Given the description of an element on the screen output the (x, y) to click on. 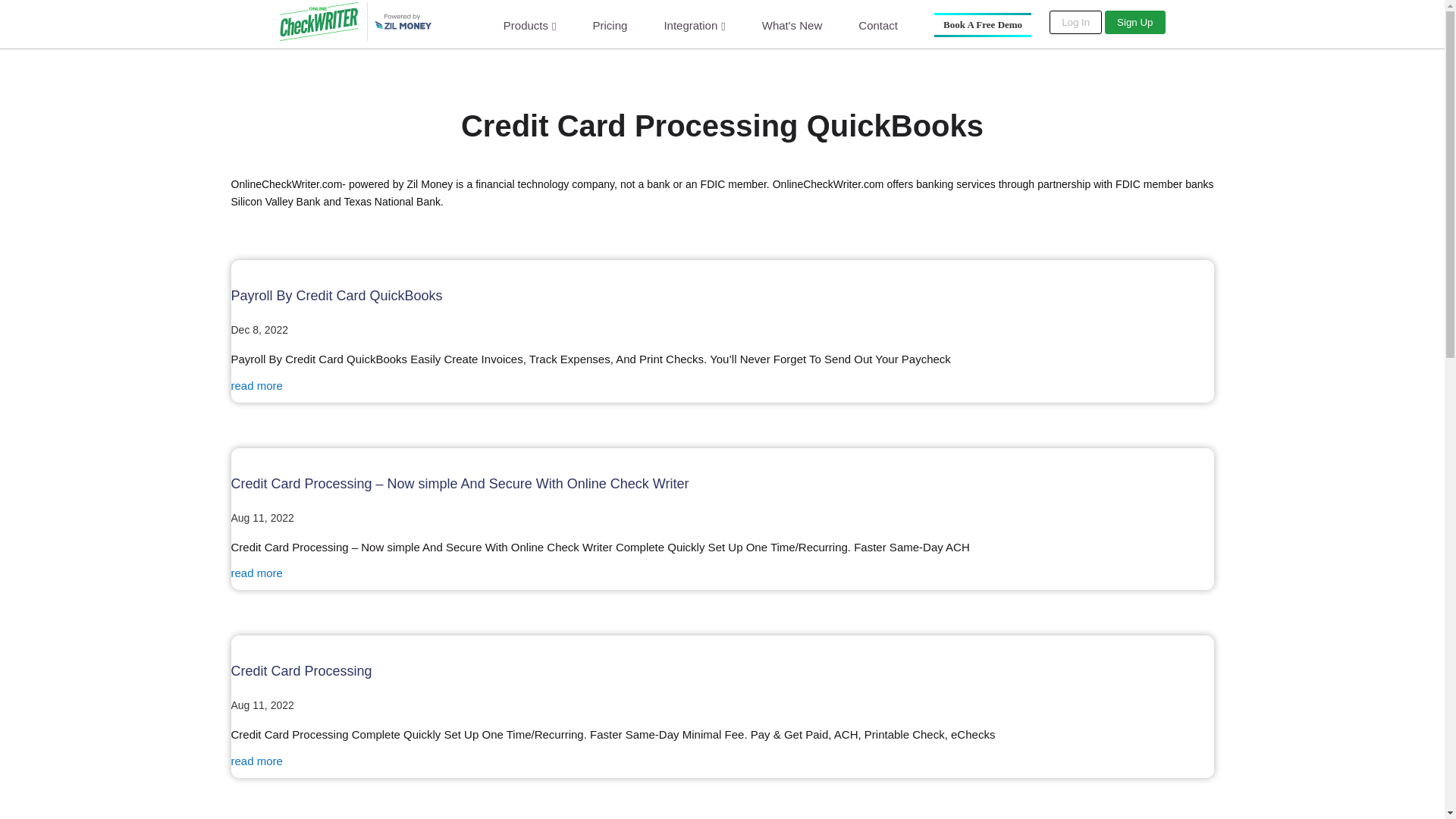
Integration (694, 25)
Products (529, 25)
Log In (1075, 22)
What's New (791, 24)
Sign Up (1134, 22)
Contact (878, 24)
Payroll By Credit Card QuickBooks (336, 295)
Pricing (609, 24)
read more (256, 385)
